Given the description of an element on the screen output the (x, y) to click on. 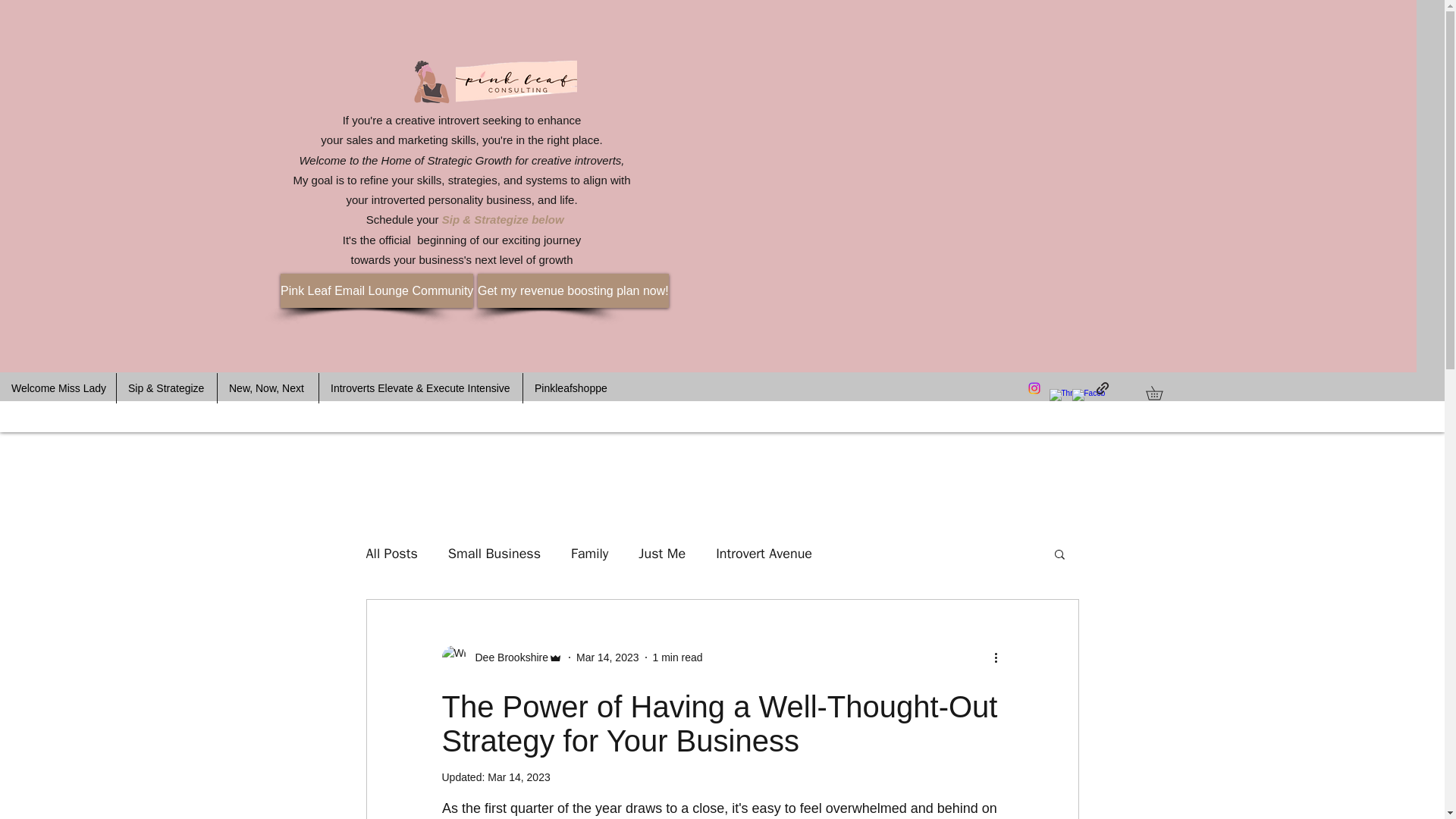
Family (589, 553)
Dee Brookshire (501, 657)
Mar 14, 2023 (518, 776)
Pink Leaf Email Lounge Community (377, 290)
Small Business (494, 553)
Dee Brookshire (506, 657)
Pinkleafshoppe (570, 388)
Introvert Avenue (764, 553)
Just Me (662, 553)
All Posts (390, 553)
